Given the description of an element on the screen output the (x, y) to click on. 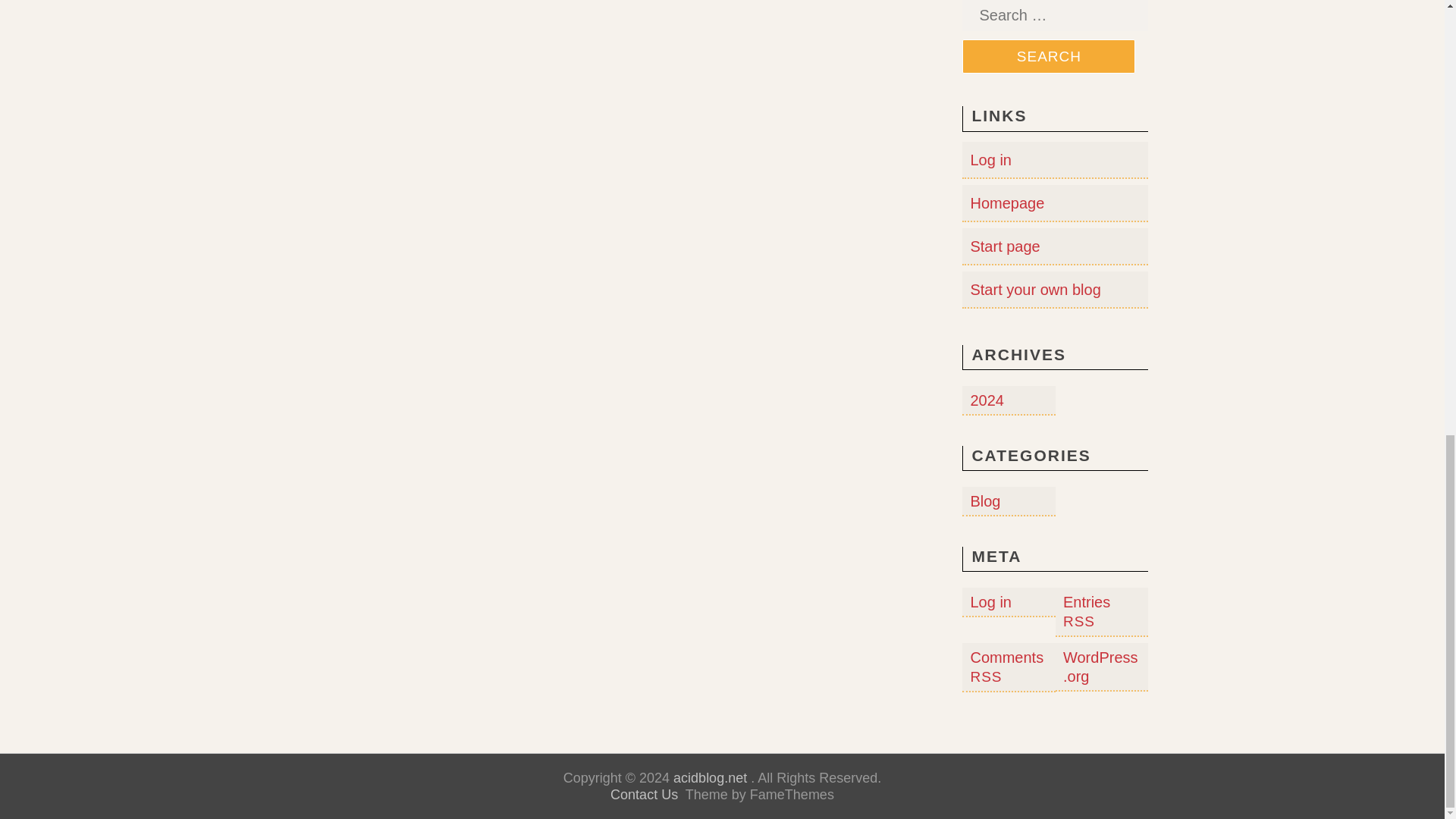
Really Simple Syndication (985, 676)
Contact Us (644, 794)
WordPress.org (1100, 666)
Entries RSS (1085, 611)
Search (1048, 56)
Search (1048, 56)
Start page (1004, 246)
Really Simple Syndication (1078, 621)
2024 (986, 400)
Log in (990, 159)
Comments RSS (1006, 666)
acidblog.net (709, 777)
Homepage (1006, 202)
Start your own blog (1034, 289)
